Given the description of an element on the screen output the (x, y) to click on. 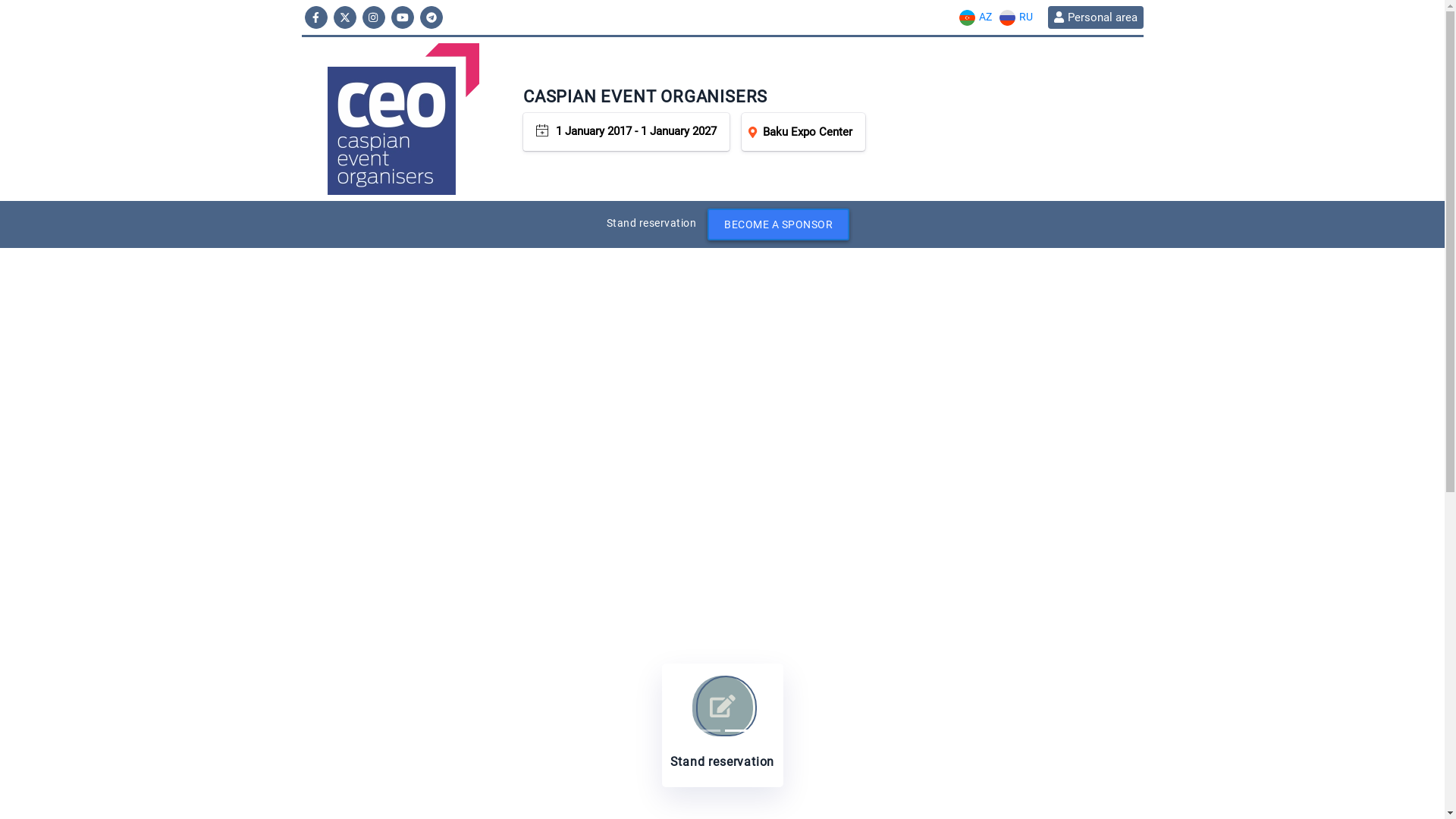
Stand reservation Element type: text (721, 725)
Personal area Element type: text (1095, 17)
Baku Expo Center Element type: text (803, 131)
RU Element type: text (1014, 16)
Stand reservation Element type: text (651, 222)
AZ Element type: text (974, 16)
BECOME A SPONSOR Element type: text (778, 224)
